Given the description of an element on the screen output the (x, y) to click on. 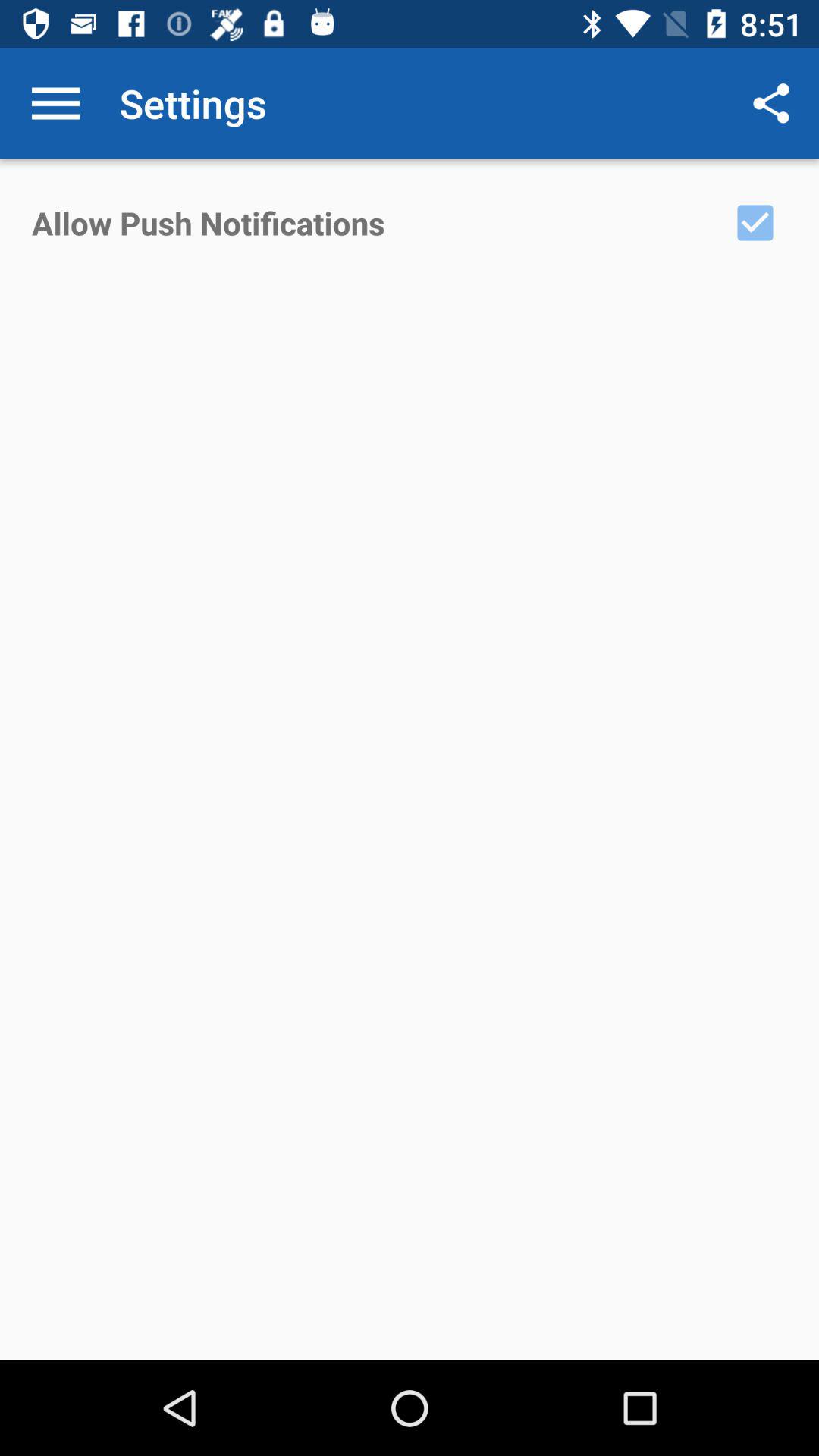
choose the item above the allow push notifications icon (55, 103)
